Given the description of an element on the screen output the (x, y) to click on. 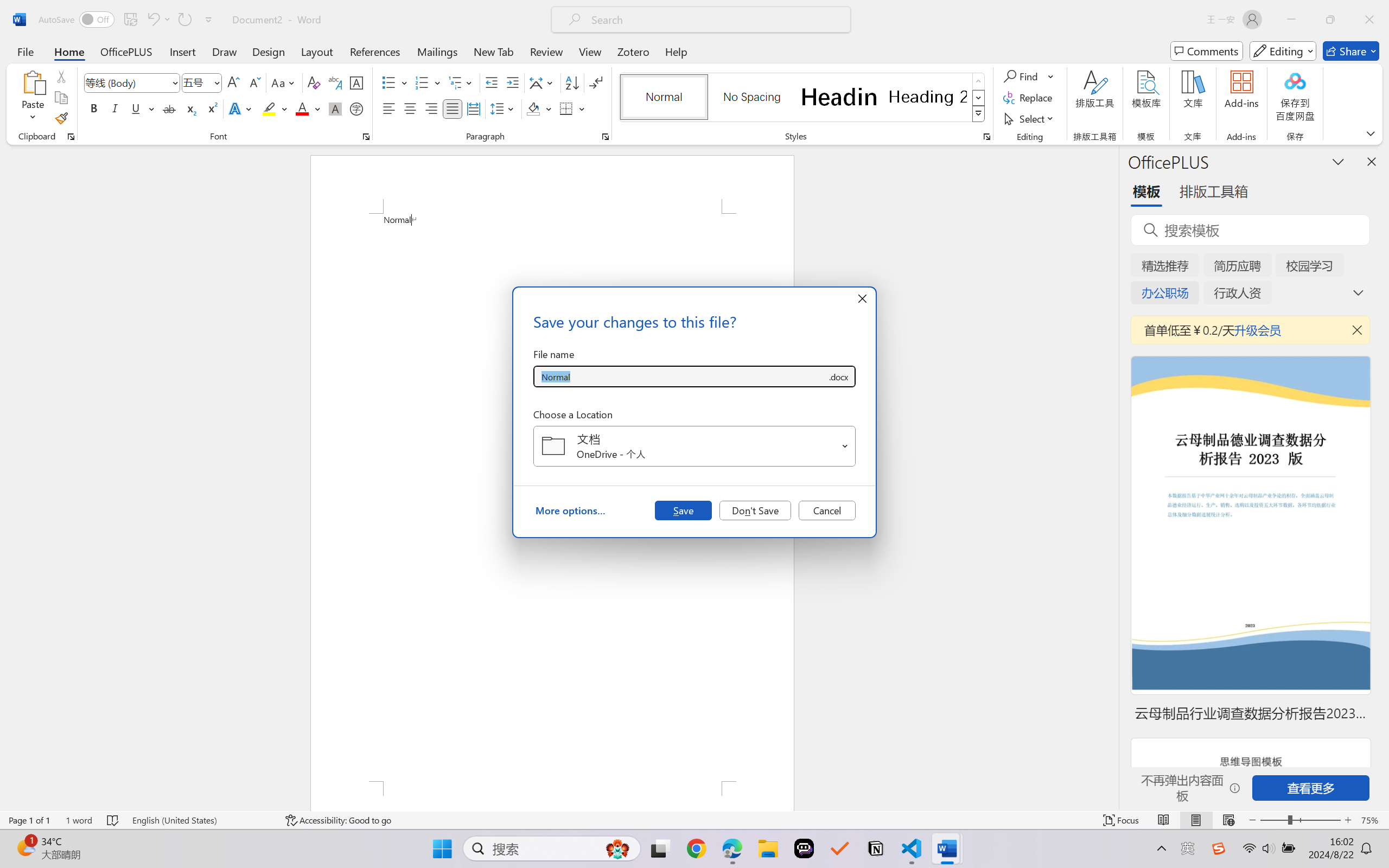
Bullets (395, 82)
Borders (566, 108)
AutomationID: BadgeAnchorLargeTicker (24, 847)
More Options (1051, 75)
Comments (1206, 50)
Language English (United States) (201, 819)
Find (1022, 75)
Change Case (284, 82)
New Tab (493, 51)
Sort... (571, 82)
Mode (1283, 50)
Google Chrome (696, 848)
